Given the description of an element on the screen output the (x, y) to click on. 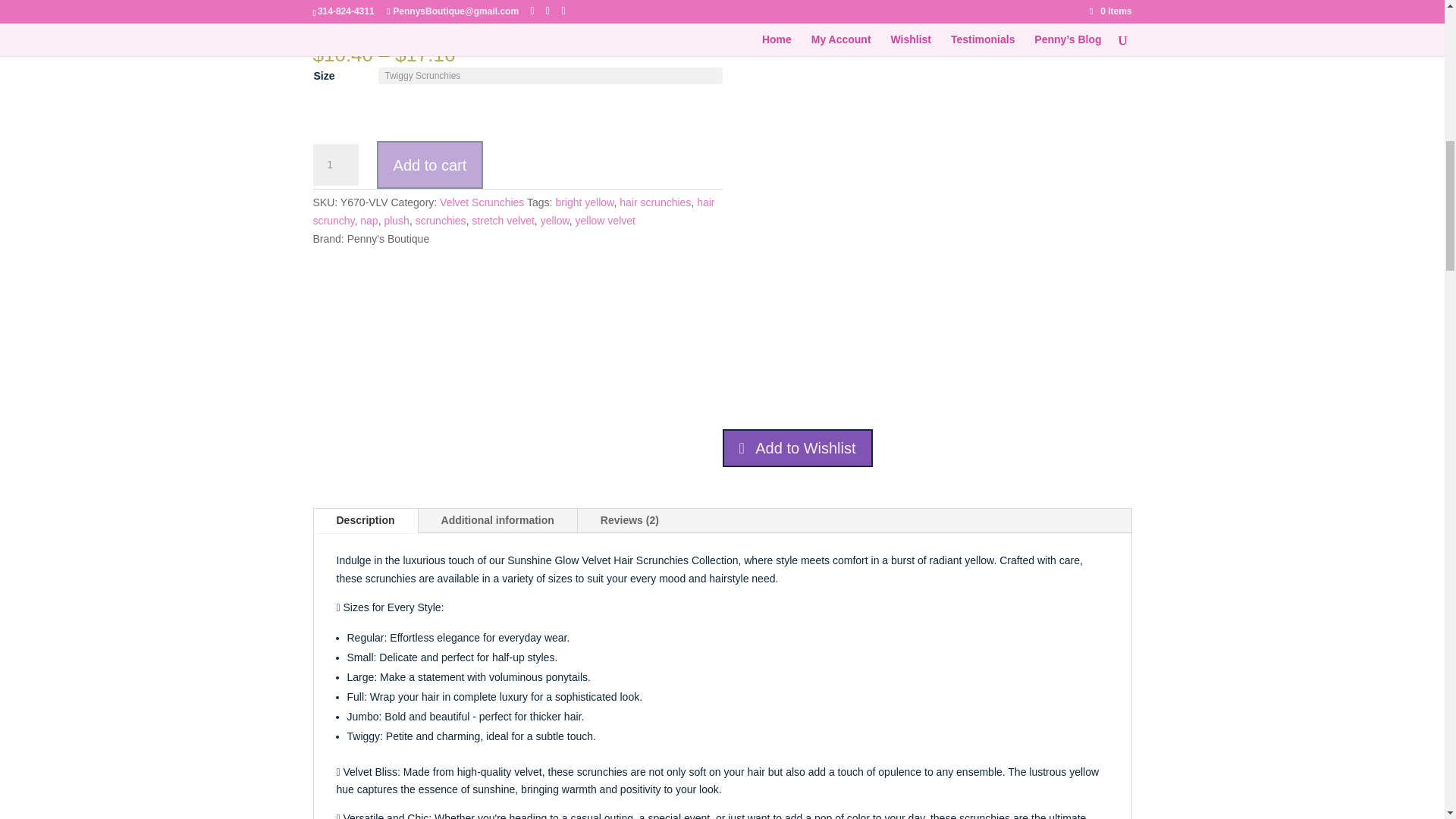
yellow velvet (604, 220)
Additional information (497, 520)
yellow (554, 220)
Add to Wishlist (797, 447)
stretch velvet (502, 220)
1 (335, 165)
plush (396, 220)
Velvet Scrunchies (481, 202)
hair scrunchies (655, 202)
nap (368, 220)
